Given the description of an element on the screen output the (x, y) to click on. 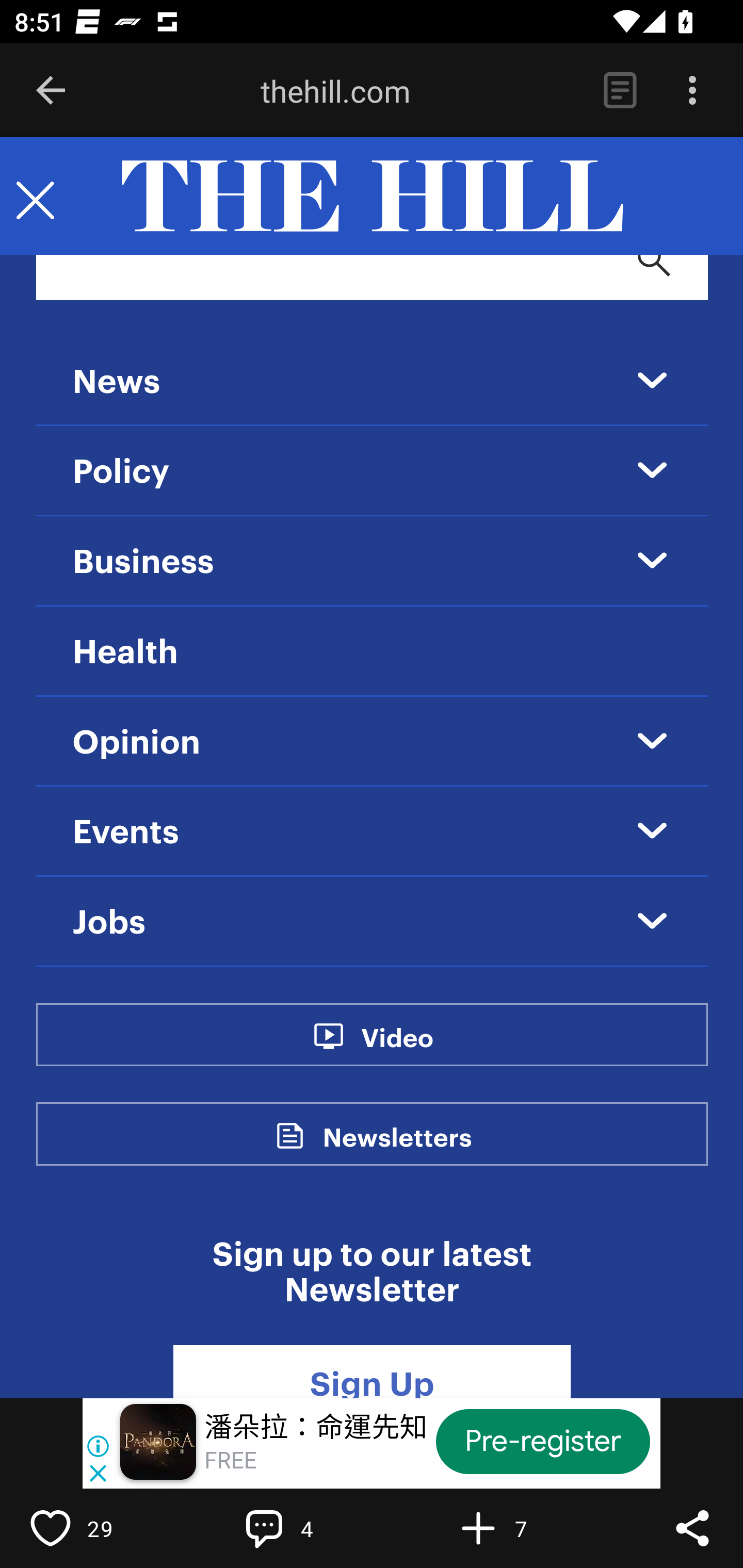
Back (50, 90)
Reader View (619, 90)
Options (692, 90)
Toggle Menu (34, 196)
TheHill.com (371, 196)
News (116, 382)
Policy (121, 472)
Business (143, 562)
Health (125, 651)
Opinion (137, 742)
Events (126, 832)
Jobs (109, 923)
Video (396, 1047)
Newsletters (397, 1147)
Sign Up (371, 1371)
潘朵拉：命運先知 (316, 1428)
Pre-register (542, 1441)
FREE (230, 1461)
Like 29 (93, 1528)
Write a comment… 4 (307, 1528)
Flip into Magazine 7 (521, 1528)
Share (692, 1528)
